Given the description of an element on the screen output the (x, y) to click on. 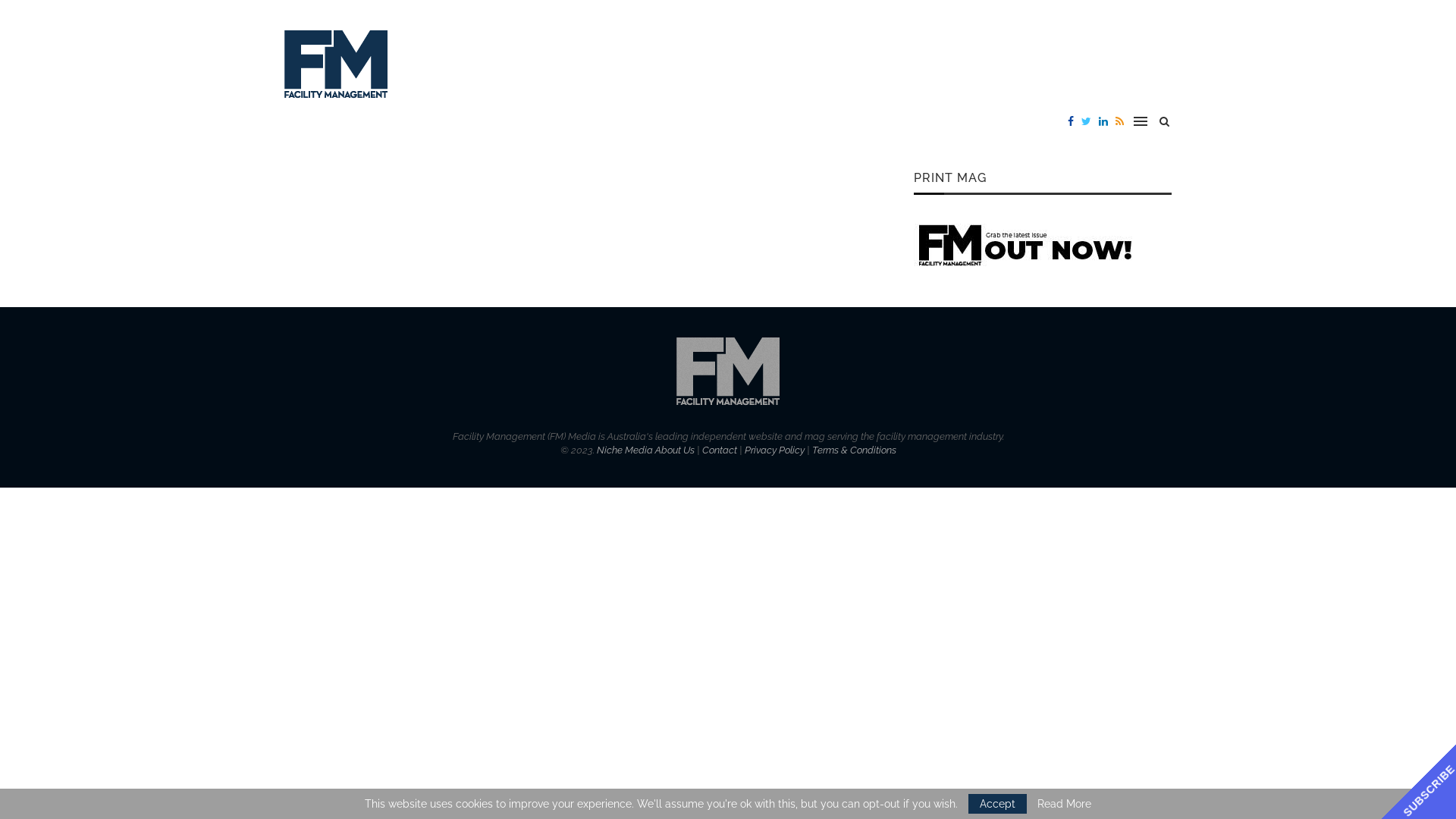
Niche Media Element type: text (624, 449)
About Us Element type: text (674, 449)
Read More Element type: text (1064, 803)
Accept Element type: text (997, 803)
Contact Element type: text (719, 449)
Terms & Conditions Element type: text (853, 449)
Privacy Policy Element type: text (774, 449)
